Given the description of an element on the screen output the (x, y) to click on. 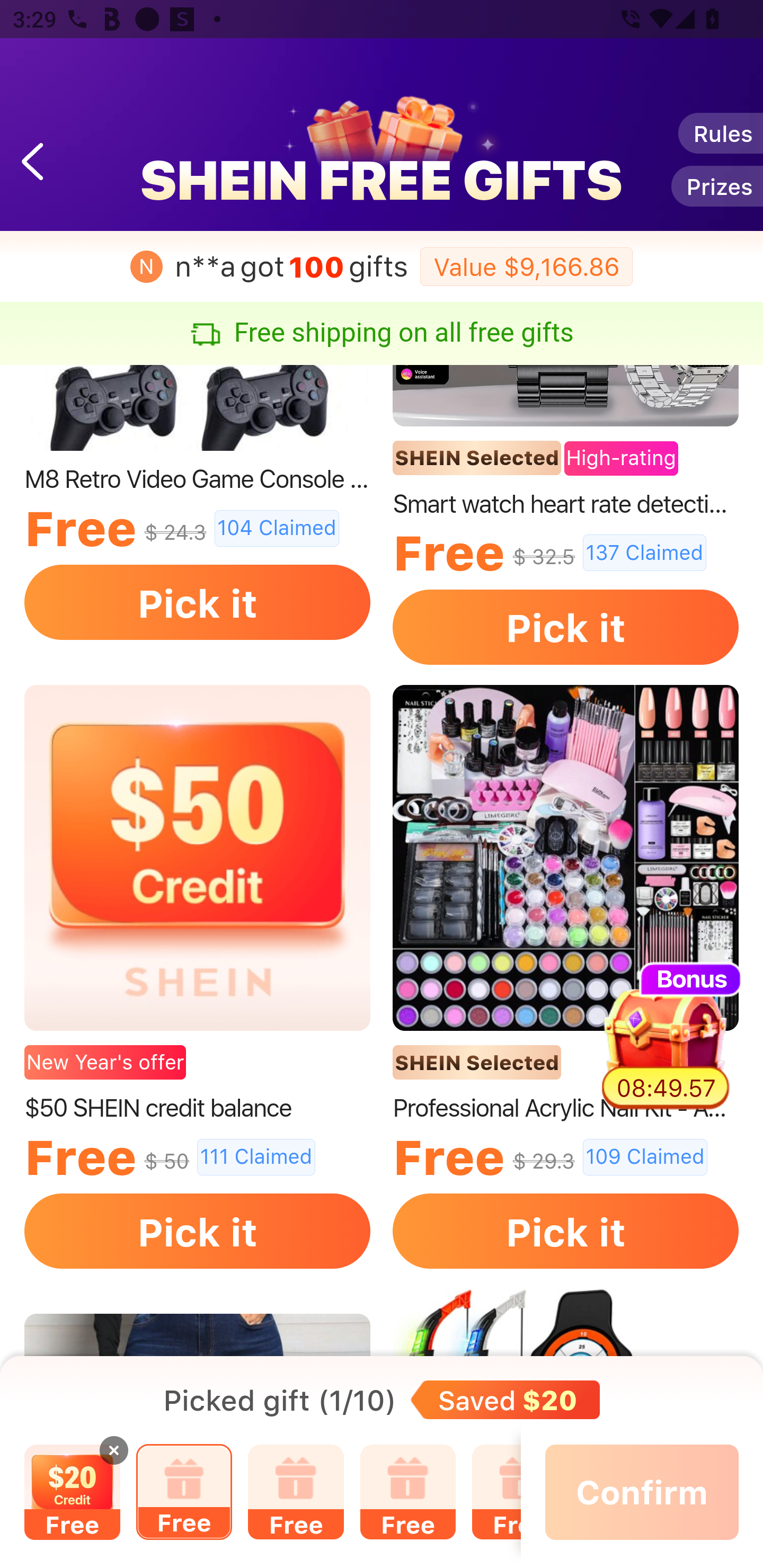
Rules (720, 132)
Prizes (716, 185)
Pick it (196, 601)
Pick it (565, 627)
Bonus 08:49.61 (666, 1036)
Pick it (196, 1231)
Pick it (565, 1231)
Confirm (642, 1491)
